Given the description of an element on the screen output the (x, y) to click on. 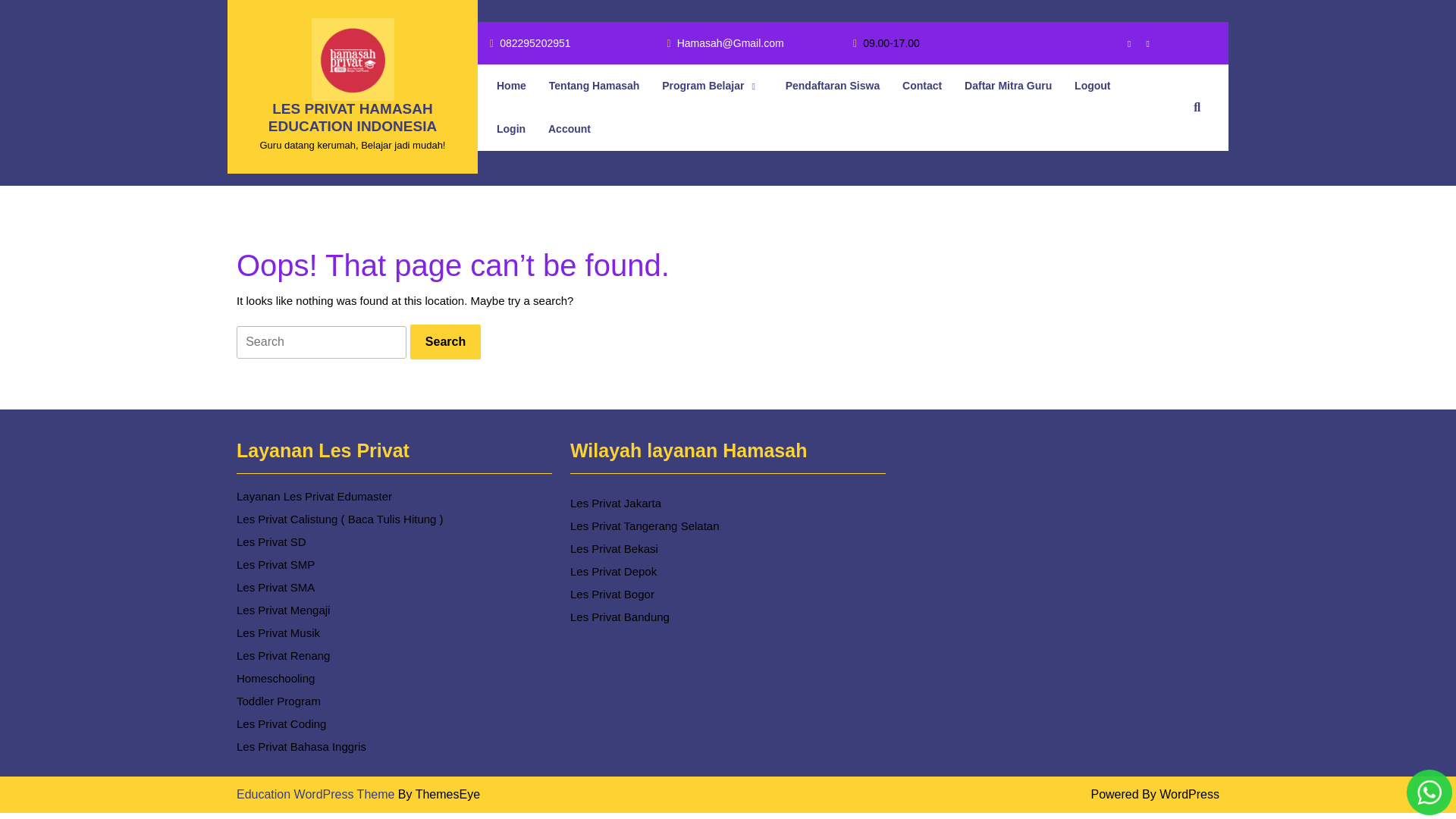
Login (529, 43)
Contact (511, 128)
Search (921, 86)
LES PRIVAT HAMASAH EDUCATION INDONESIA (445, 341)
Account (351, 117)
Daftar Mitra Guru (569, 128)
Education WordPress Theme (1007, 86)
Facebook (316, 793)
Pendaftaran Siswa (1123, 42)
